Given the description of an element on the screen output the (x, y) to click on. 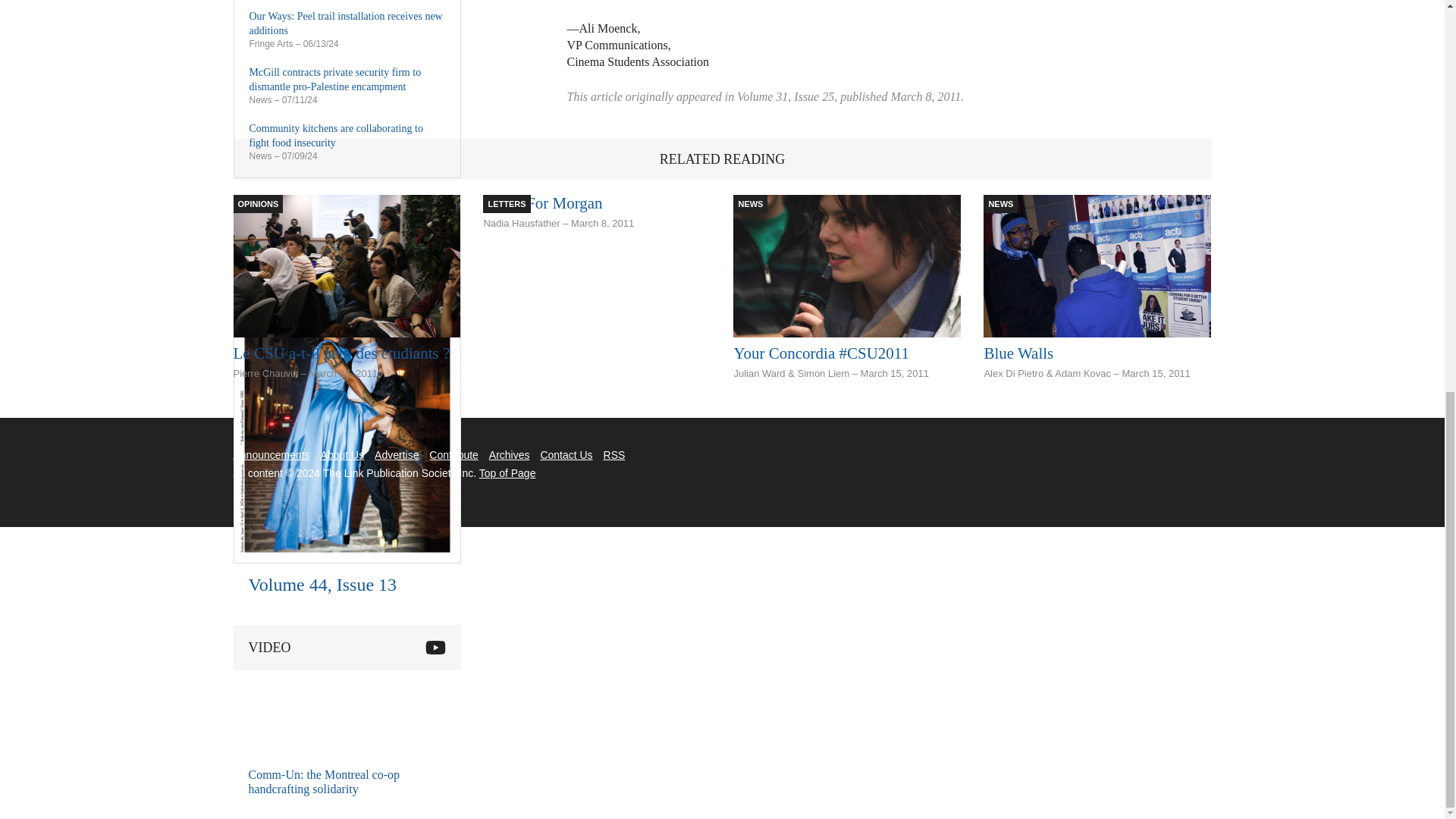
View issue (346, 559)
Comm-Un: The Montreal co-op handcrafting solidarity (308, 712)
